Given the description of an element on the screen output the (x, y) to click on. 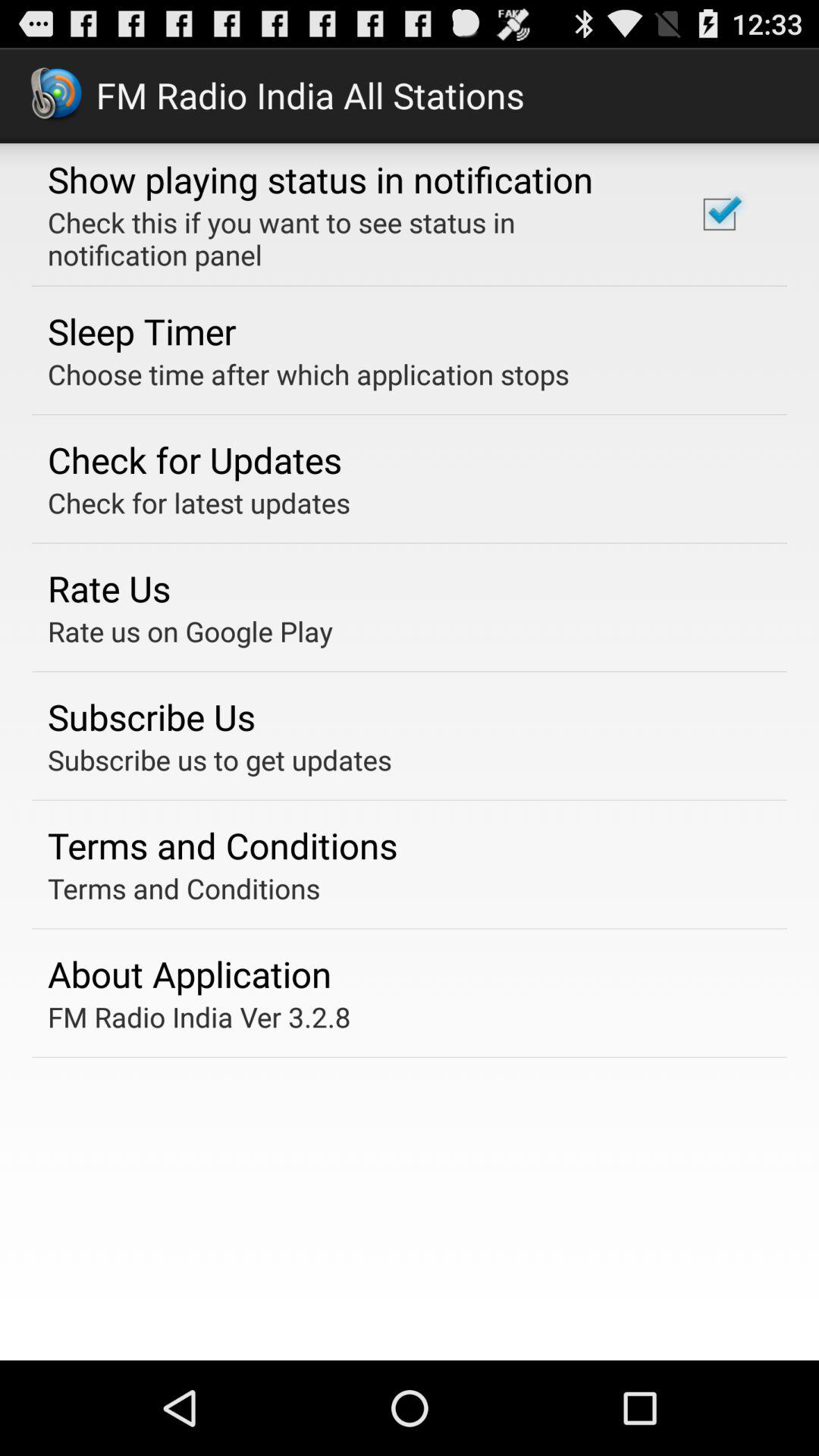
tap the icon at the top right corner (719, 214)
